Given the description of an element on the screen output the (x, y) to click on. 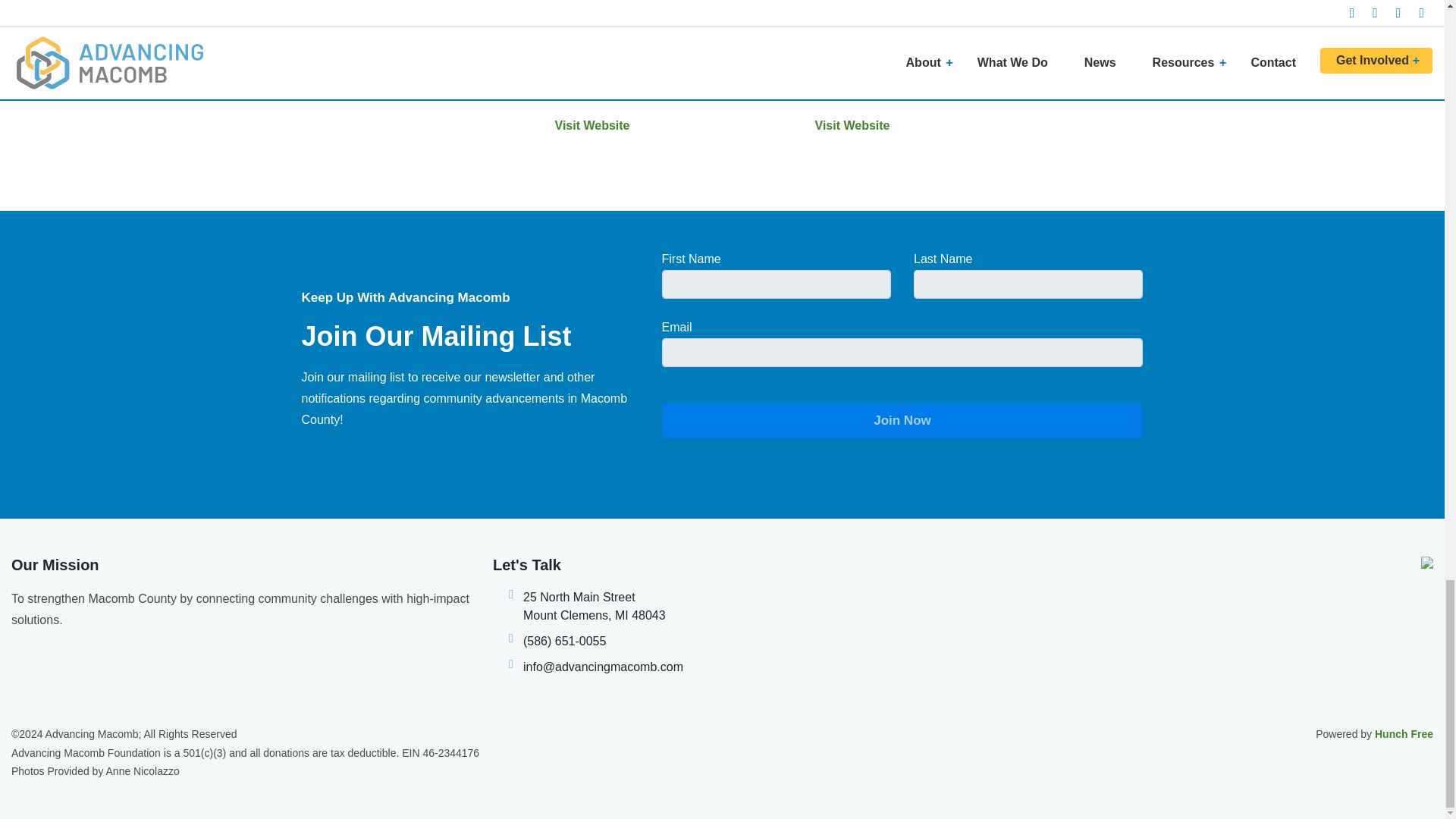
Join Now (901, 420)
